Given the description of an element on the screen output the (x, y) to click on. 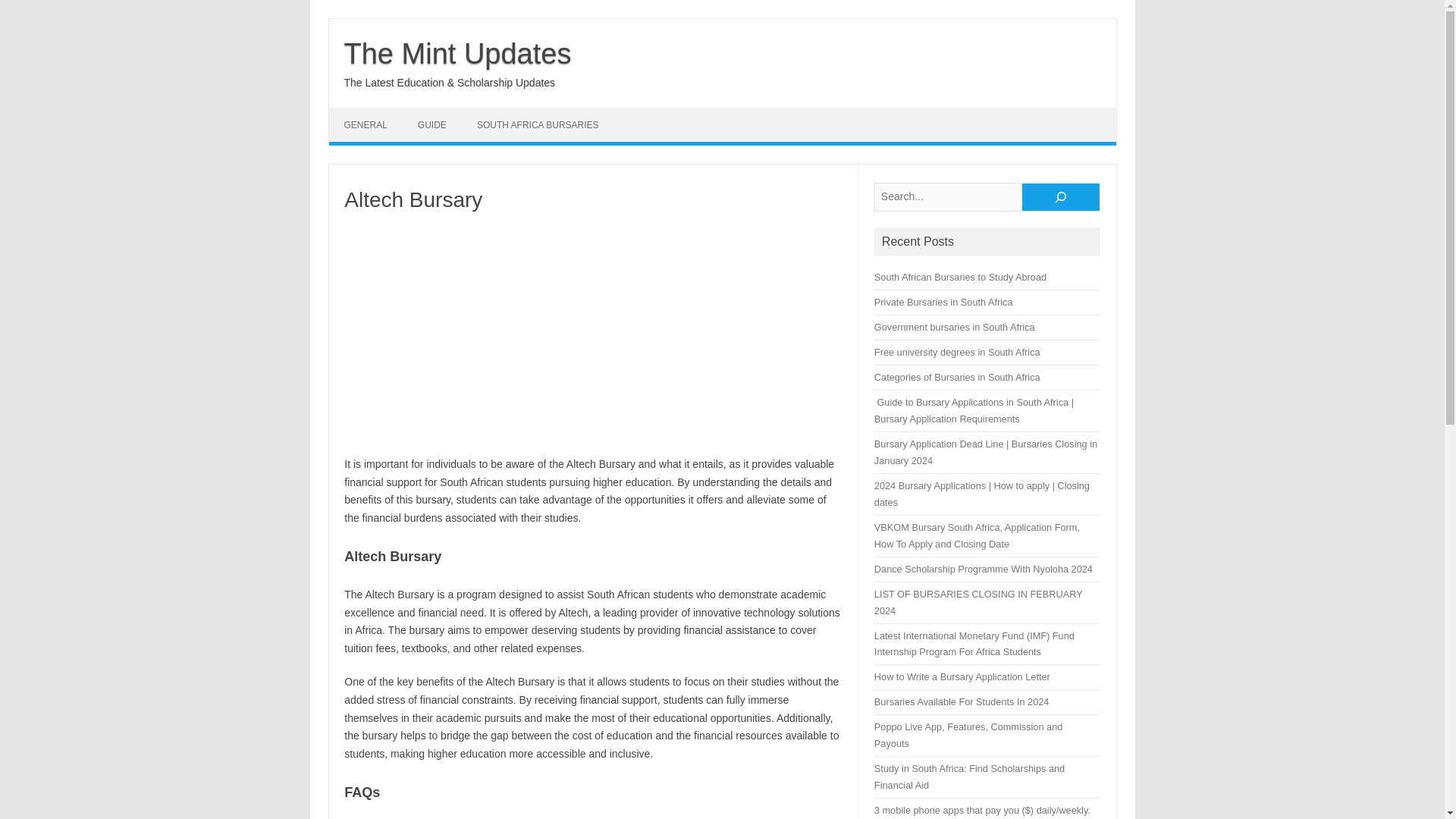
GENERAL (366, 124)
Private Bursaries in South Africa (944, 301)
Categories of Bursaries in South Africa (958, 377)
The Mint Updates (457, 53)
Free university degrees in South Africa (958, 351)
South African Bursaries to Study Abroad (960, 276)
How to Write a Bursary Application Letter (962, 676)
Government bursaries in South Africa (955, 326)
Advertisement (592, 334)
Poppo Live App, Features, Commission and Payouts (968, 735)
LIST OF BURSARIES CLOSING IN FEBRUARY 2024 (979, 602)
Bursaries Available For Students In 2024 (962, 701)
Dance Scholarship Programme With Nyoloha 2024 (984, 568)
